Given the description of an element on the screen output the (x, y) to click on. 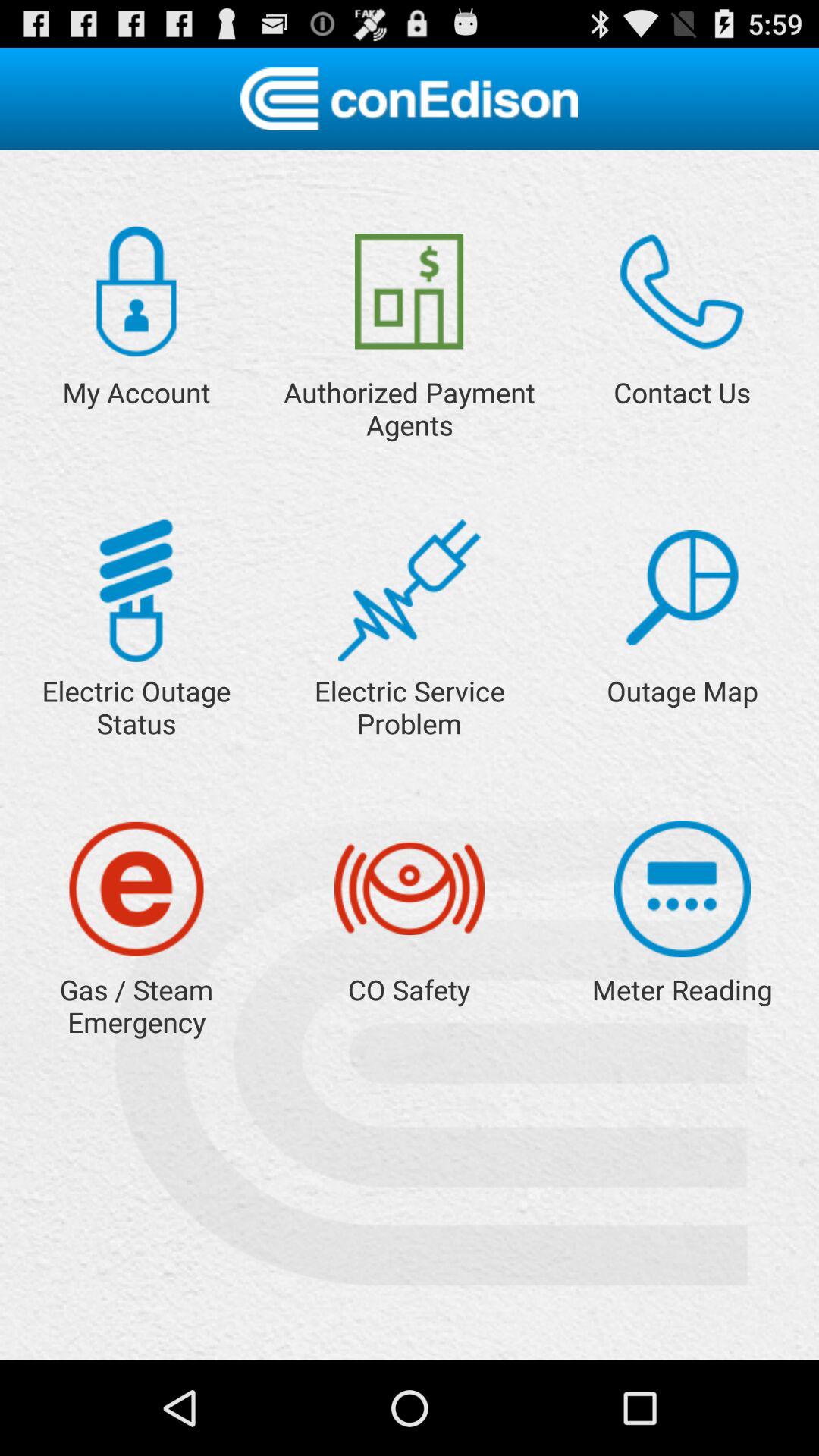
go to status page (135, 590)
